Given the description of an element on the screen output the (x, y) to click on. 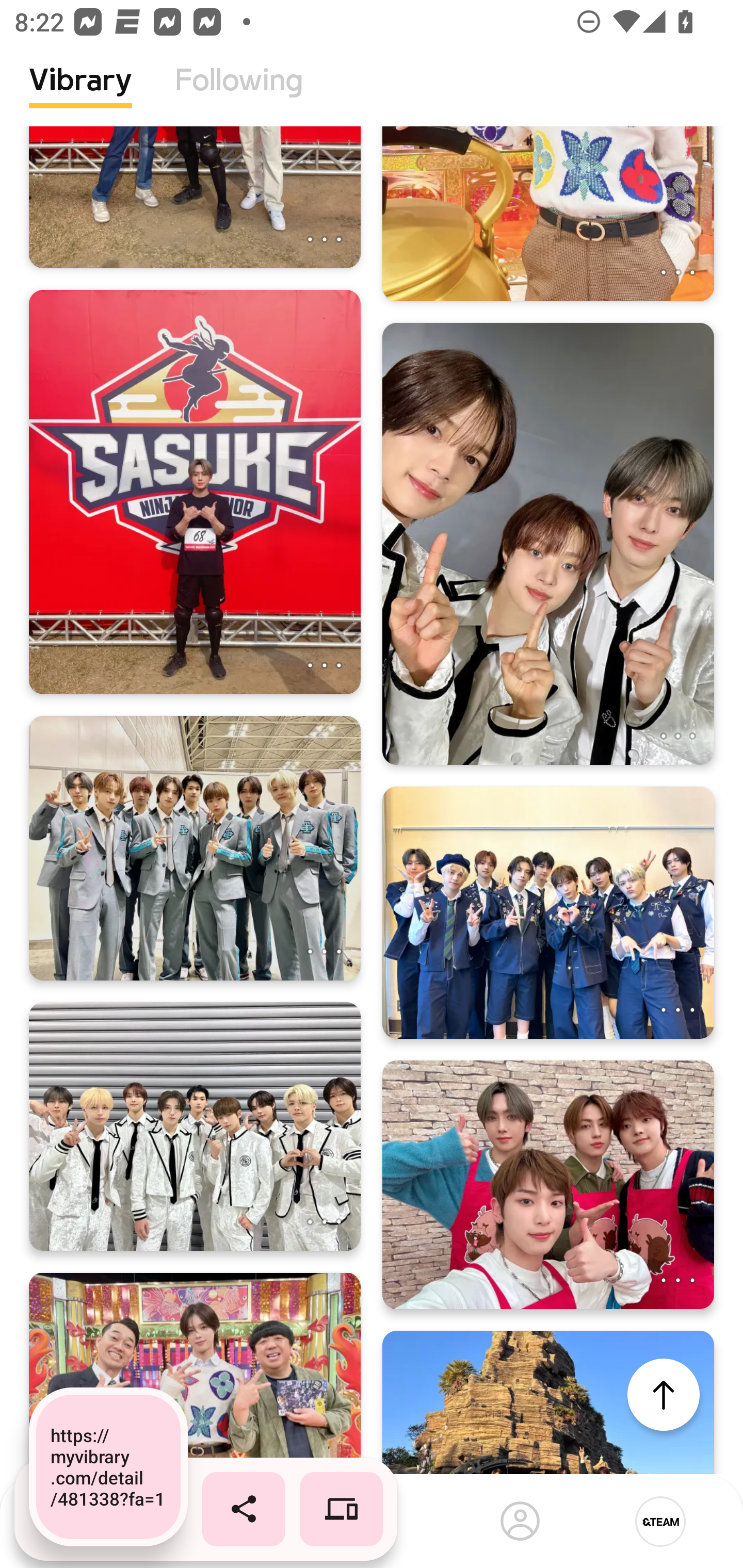
Vibrary (80, 95)
Following (239, 95)
